Given the description of an element on the screen output the (x, y) to click on. 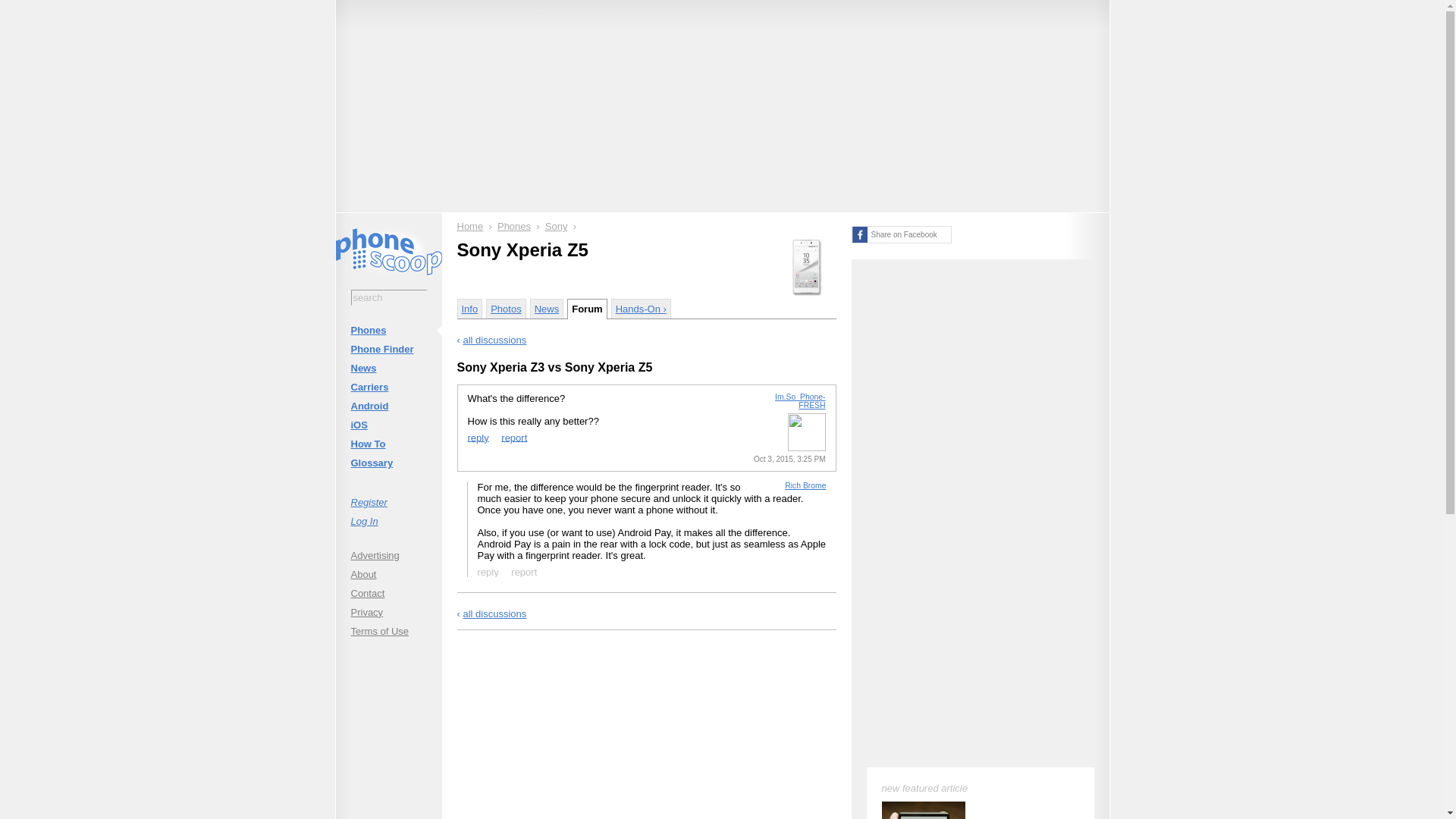
Contact (387, 592)
Home (470, 225)
Advertising (387, 555)
reply (487, 571)
News (387, 367)
Register (387, 502)
reply (478, 436)
report (523, 571)
Glossary (387, 462)
Sony (555, 225)
Rich Brome (804, 485)
Privacy (387, 610)
Info (469, 308)
How To (387, 443)
Carriers (387, 386)
